Given the description of an element on the screen output the (x, y) to click on. 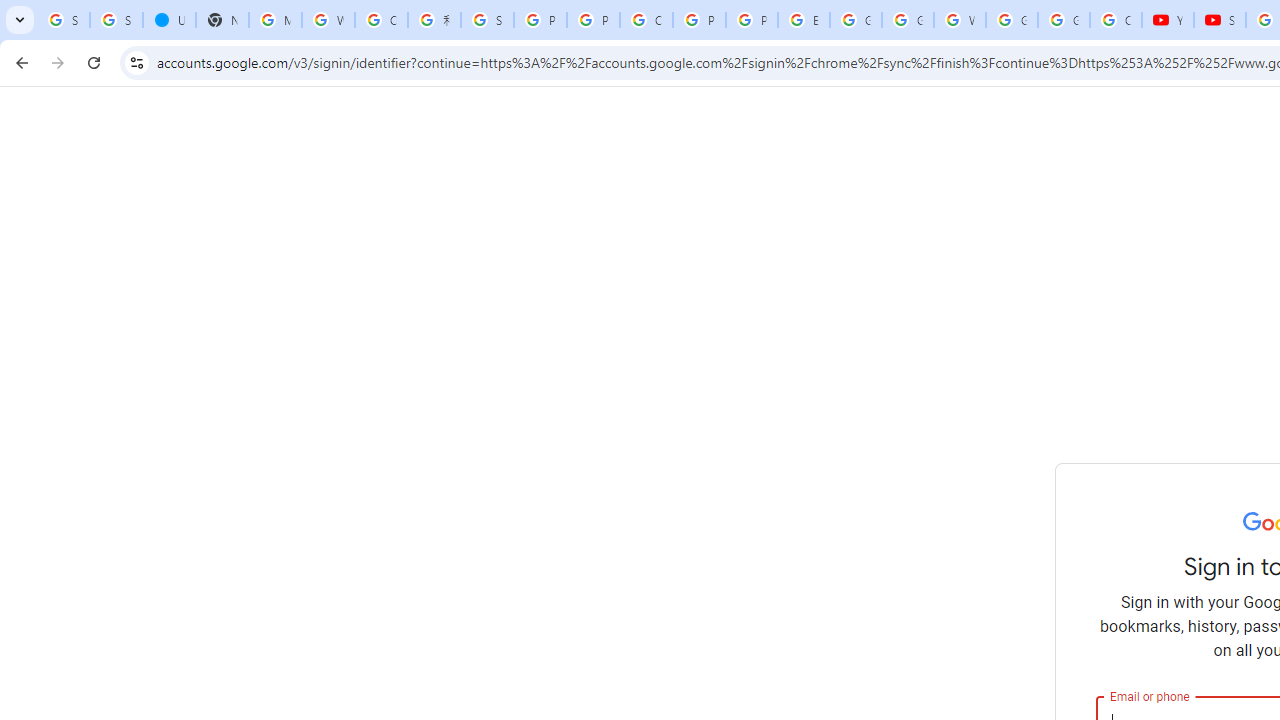
YouTube (1167, 20)
Sign in - Google Accounts (116, 20)
Edit and view right-to-left text - Google Docs Editors Help (803, 20)
Create your Google Account (381, 20)
Sign in - Google Accounts (487, 20)
New Tab (222, 20)
Subscriptions - YouTube (1219, 20)
